Given the description of an element on the screen output the (x, y) to click on. 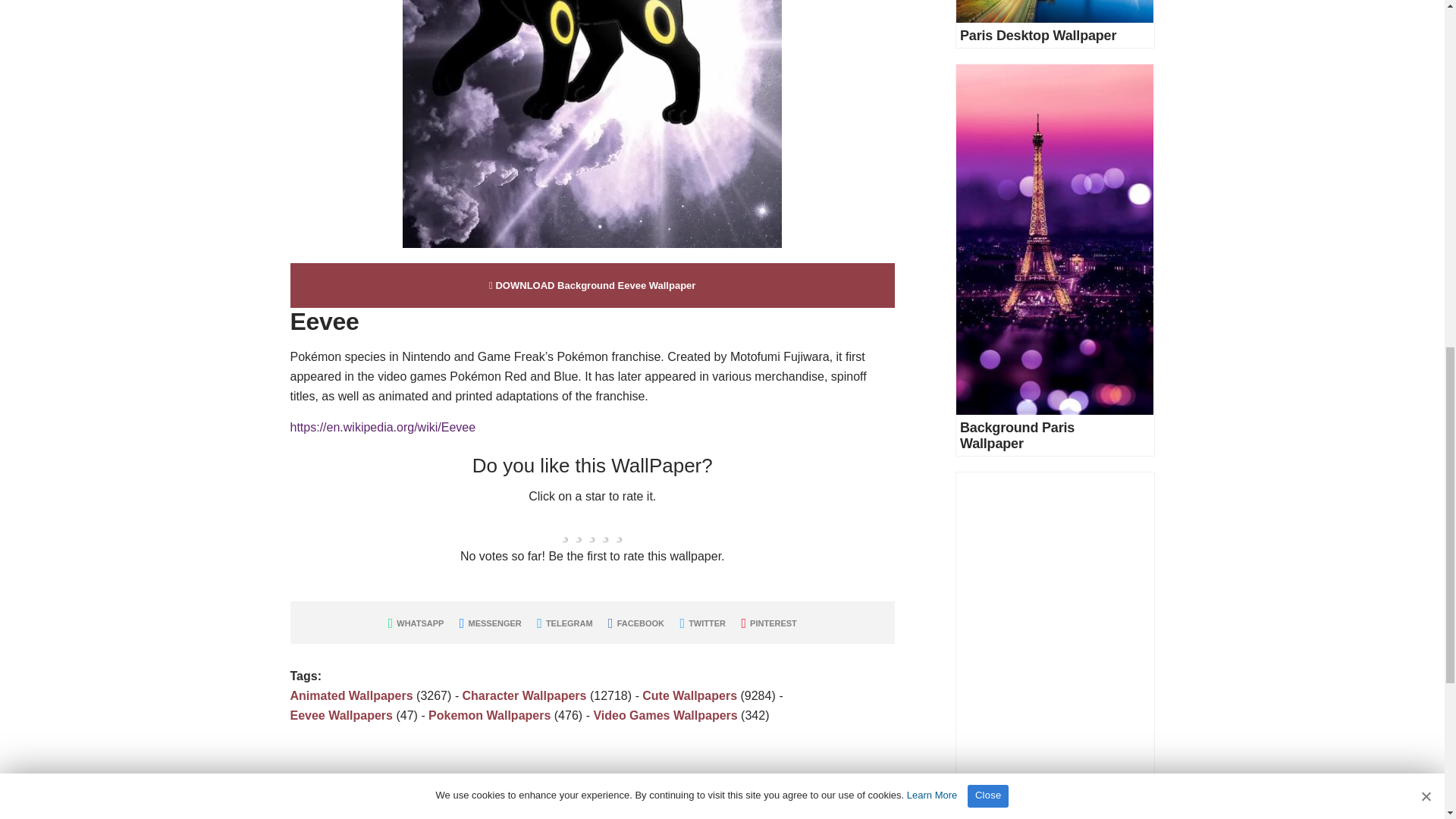
Eevee Wallpapers (340, 715)
Animated Wallpapers (350, 695)
TELEGRAM (564, 623)
Video Games Wallpapers (664, 715)
Background Eevee Wallpaper Download (592, 284)
WHATSAPP (416, 623)
Cute Wallpapers (689, 695)
Paris Desktop Wallpaper (1037, 35)
Eevee Wallpapers (340, 715)
Video Games Wallpapers (664, 715)
PINTEREST (768, 623)
TWITTER (702, 623)
Character Wallpapers (524, 695)
DOWNLOAD Background Eevee Wallpaper (592, 284)
MESSENGER (490, 623)
